Given the description of an element on the screen output the (x, y) to click on. 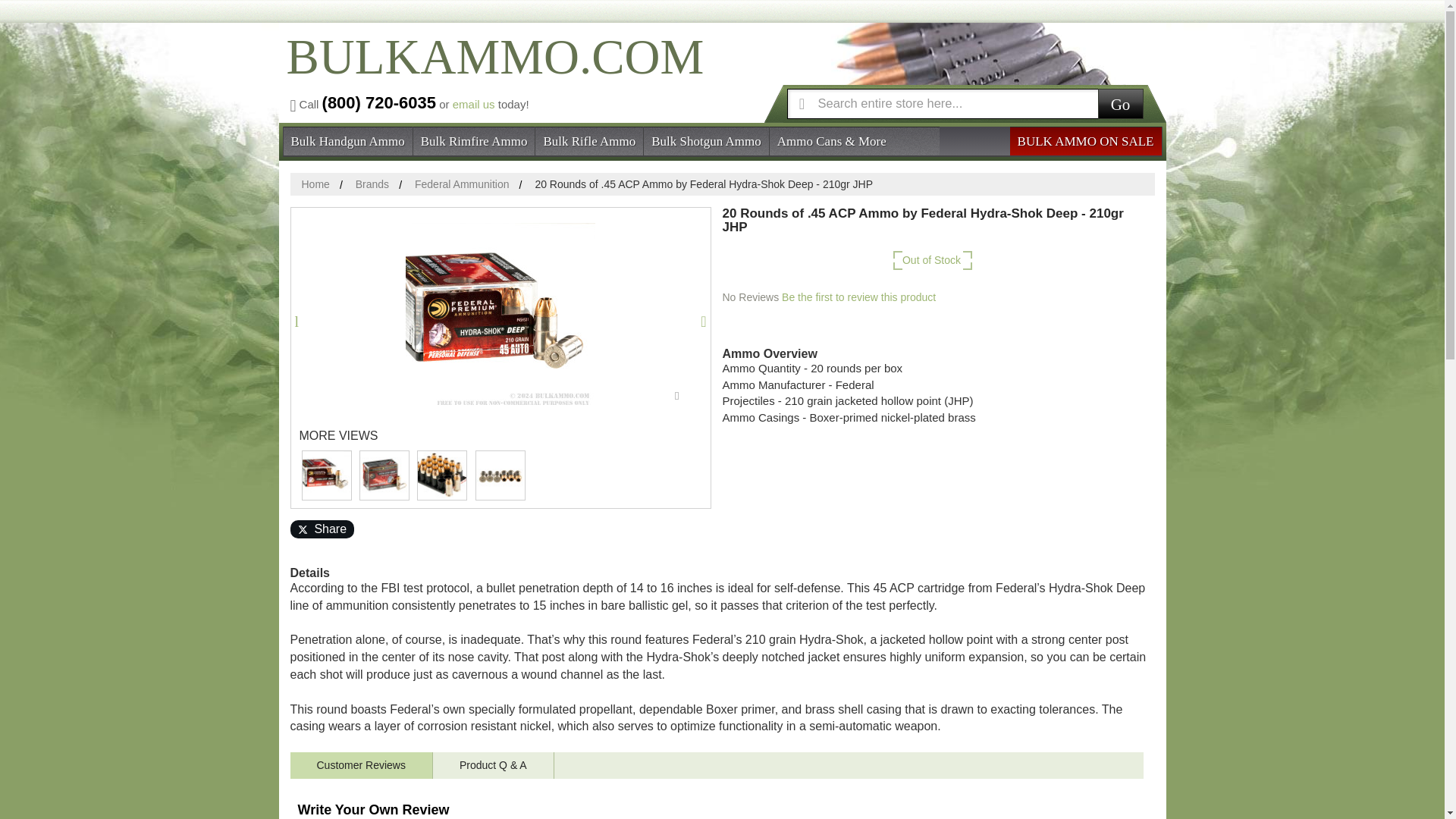
Go (1119, 102)
Home (315, 183)
Brands (371, 183)
Go (1119, 102)
BULKAMMO.COM (491, 69)
Bulk Rifle Ammo (589, 140)
Bulk Handgun Ammo (347, 140)
Federal Ammunition (461, 183)
email us (473, 103)
Bulk Rimfire Ammo (474, 140)
